Given the description of an element on the screen output the (x, y) to click on. 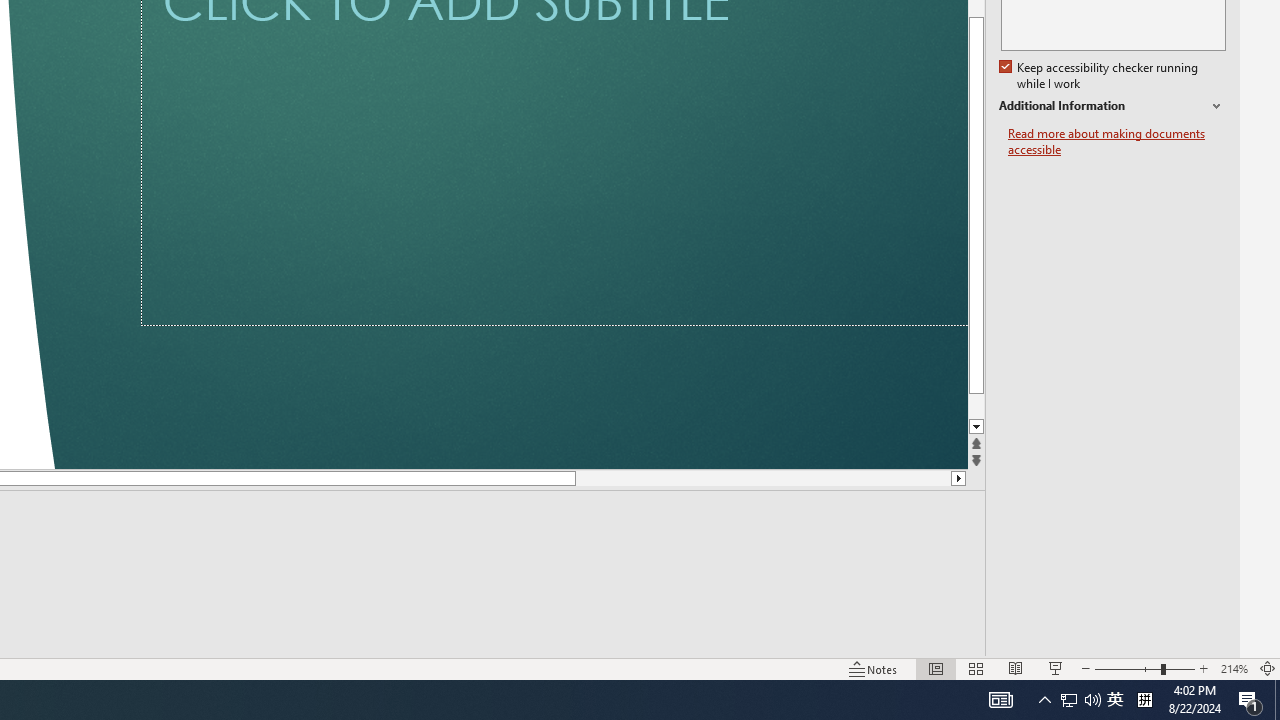
Zoom 214% (1234, 668)
